Given the description of an element on the screen output the (x, y) to click on. 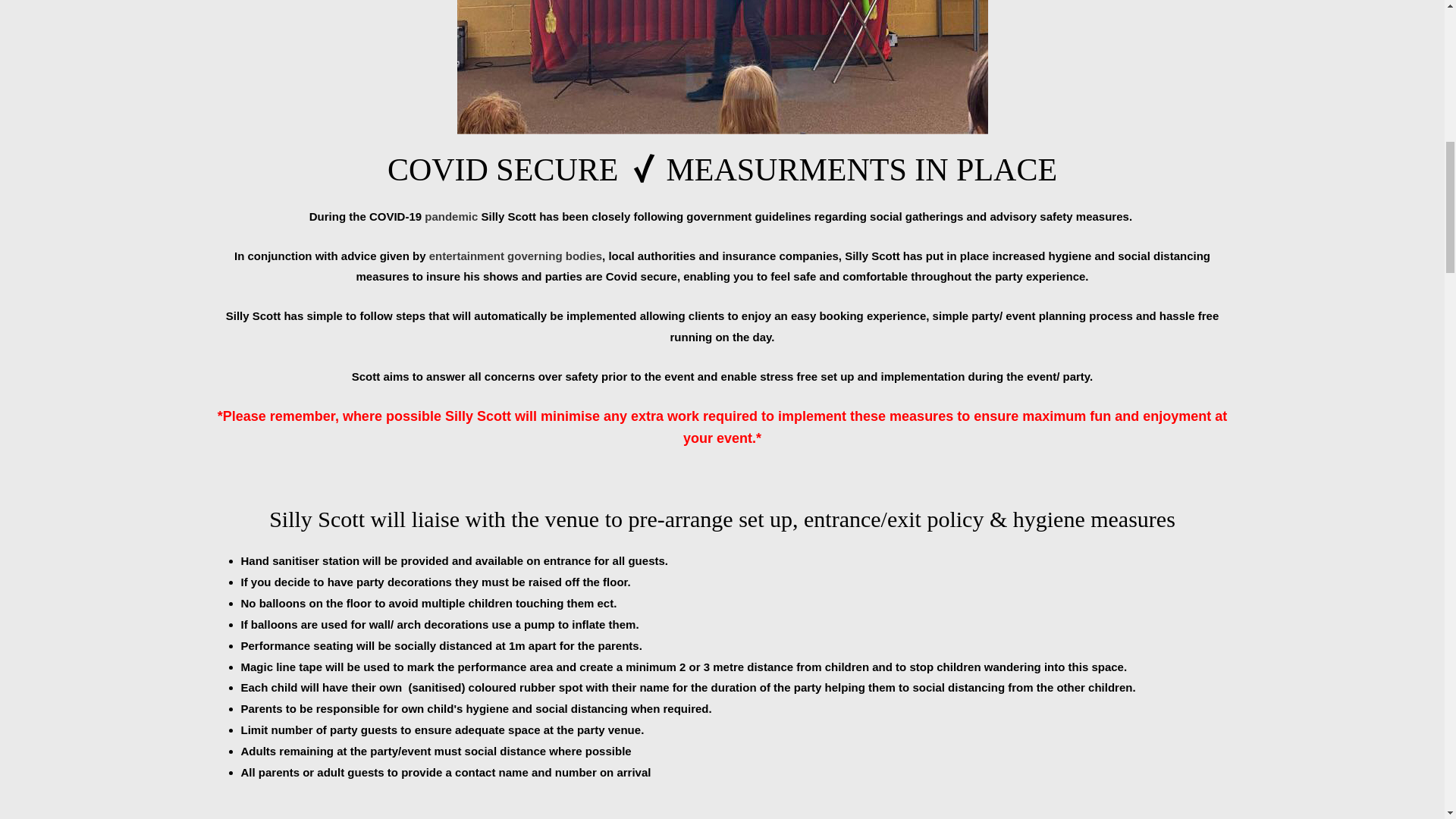
pandemic (451, 215)
entertainment governing bodies (515, 255)
